Given the description of an element on the screen output the (x, y) to click on. 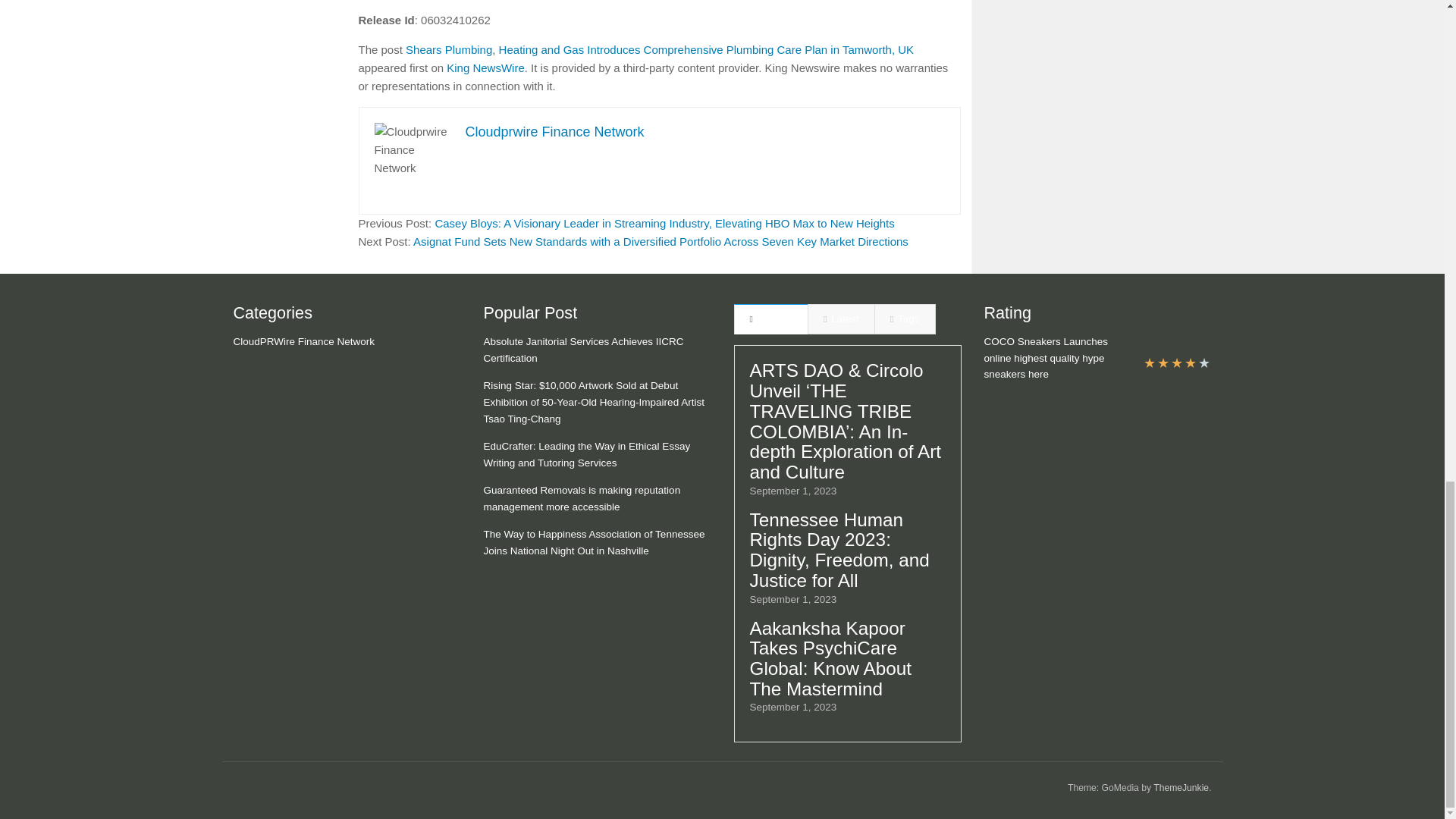
Popular (770, 318)
CloudPRWire Finance Network (303, 341)
King NewsWire (485, 67)
Cloudprwire Finance Network (555, 131)
Absolute Janitorial Services Achieves IICRC Certification (583, 349)
